Given the description of an element on the screen output the (x, y) to click on. 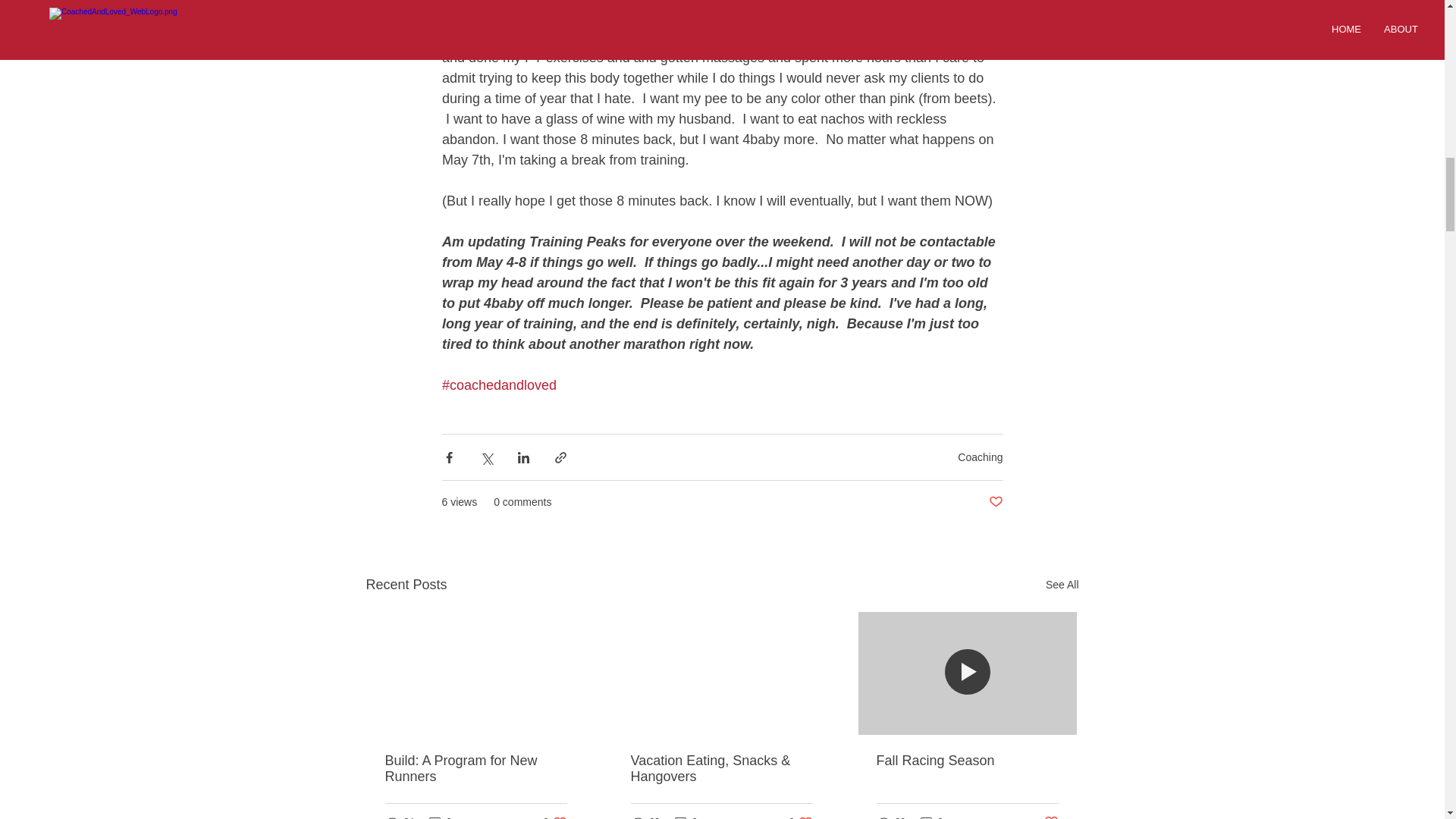
Build: A Program for New Runners (476, 768)
Post not marked as liked (995, 502)
0 (800, 816)
Coaching (555, 816)
See All (931, 816)
0 (980, 456)
0 (1061, 585)
Post not marked as liked (685, 816)
